Given the description of an element on the screen output the (x, y) to click on. 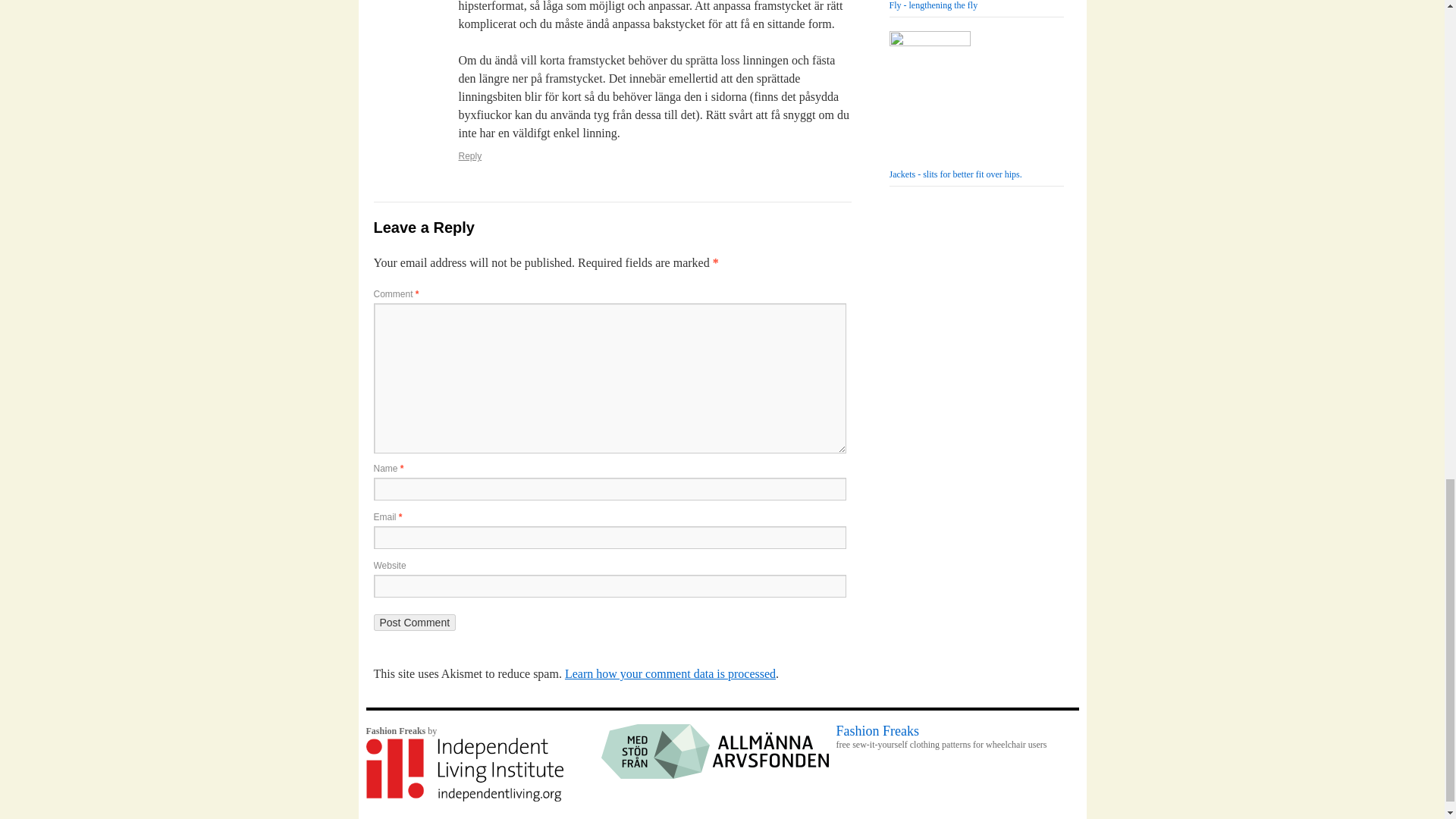
Fly - lengthening the fly (945, 5)
Post Comment (413, 622)
Fashion Freaks (948, 736)
Jackets - slits for better fit over hips. (955, 108)
Independent Living Institute (463, 798)
